Given the description of an element on the screen output the (x, y) to click on. 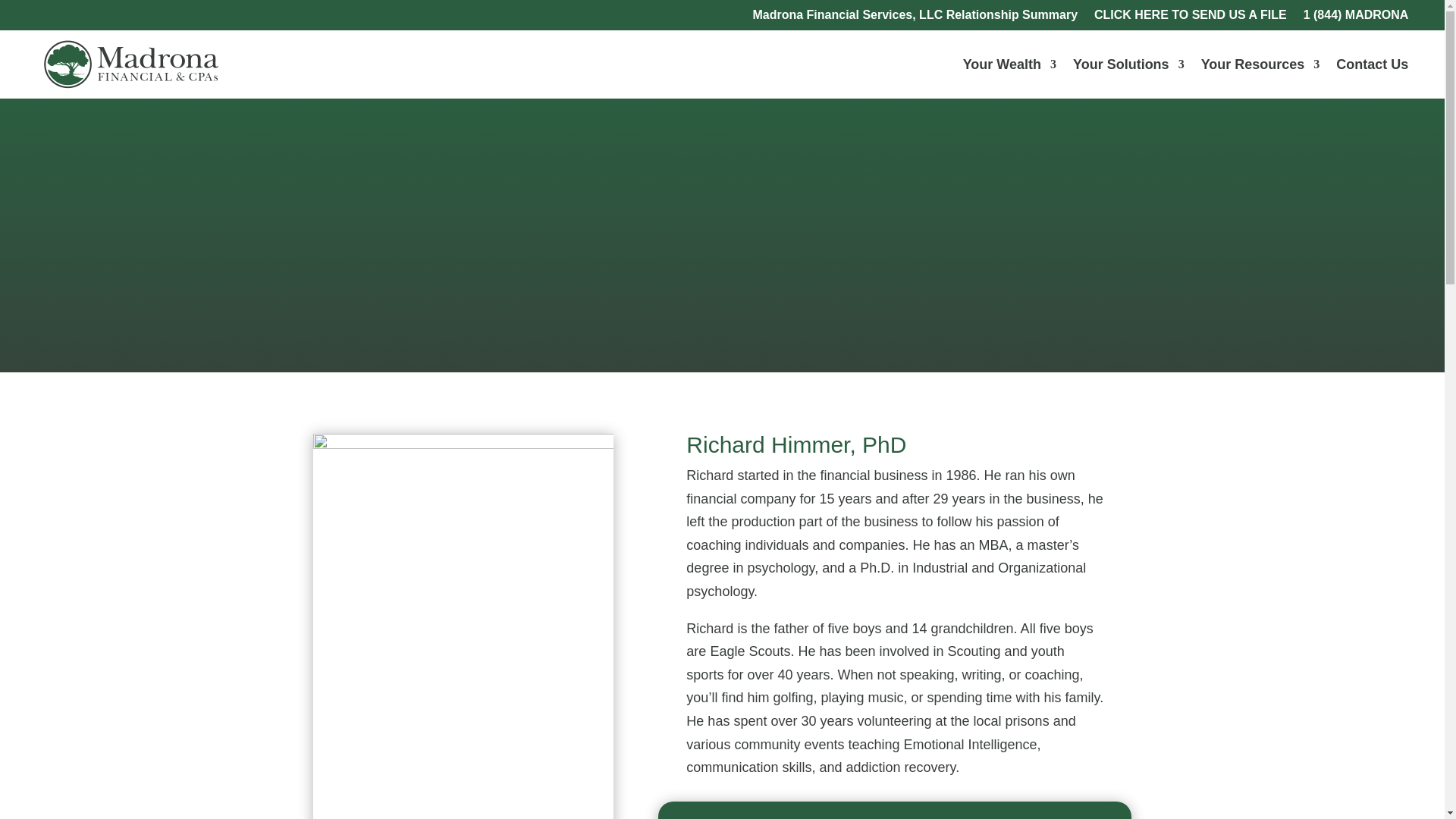
Your Resources (1260, 64)
Your Solutions (1129, 64)
CLICK HERE TO SEND US A FILE (1190, 17)
Madrona Financial Services, LLC Relationship Summary (914, 17)
Your Wealth (1009, 64)
Contact Us (1371, 64)
